Given the description of an element on the screen output the (x, y) to click on. 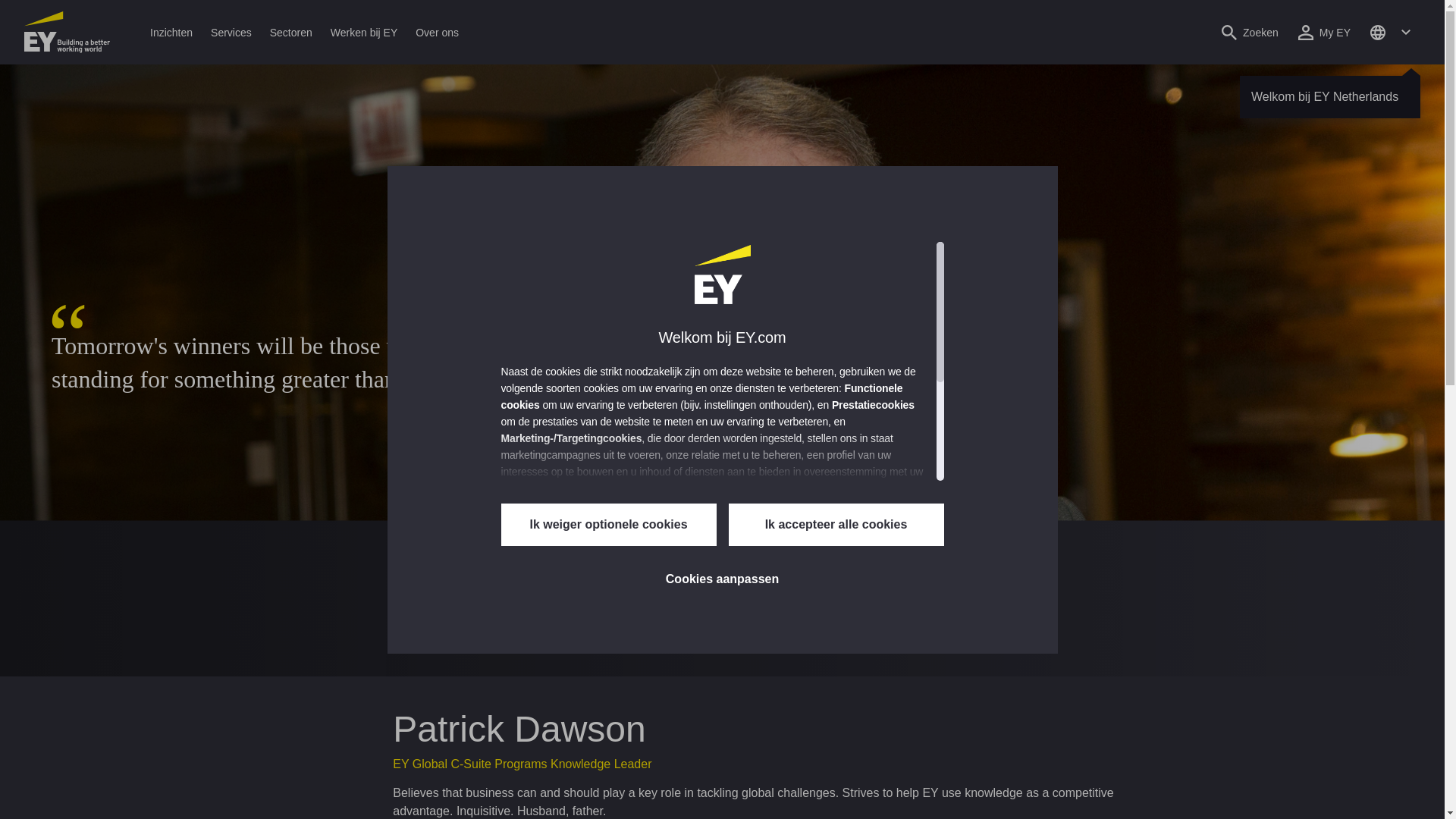
My EY (1324, 32)
EY Homepage (67, 32)
Open search (1249, 32)
